Given the description of an element on the screen output the (x, y) to click on. 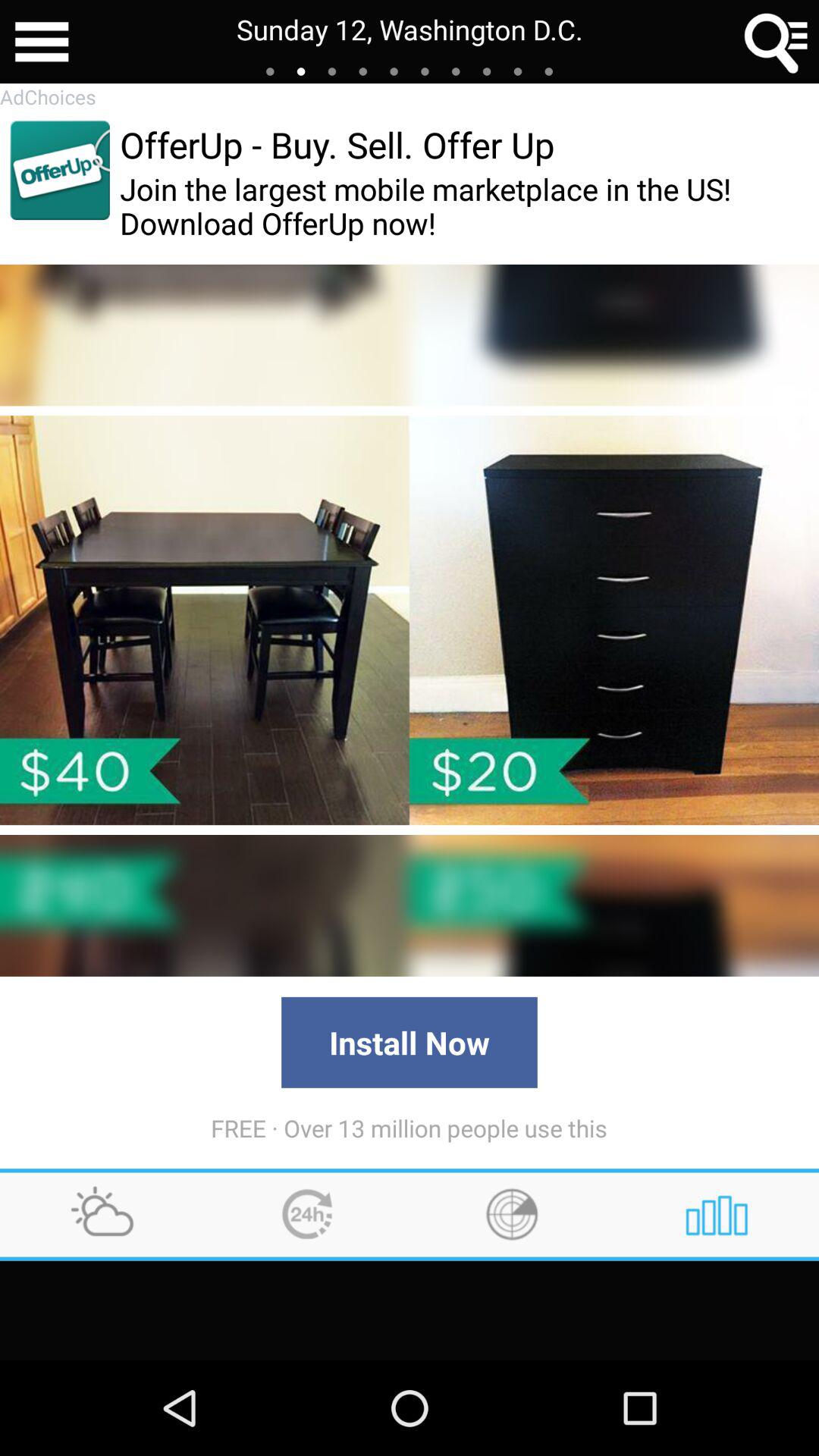
go to offer up section (59, 170)
